Given the description of an element on the screen output the (x, y) to click on. 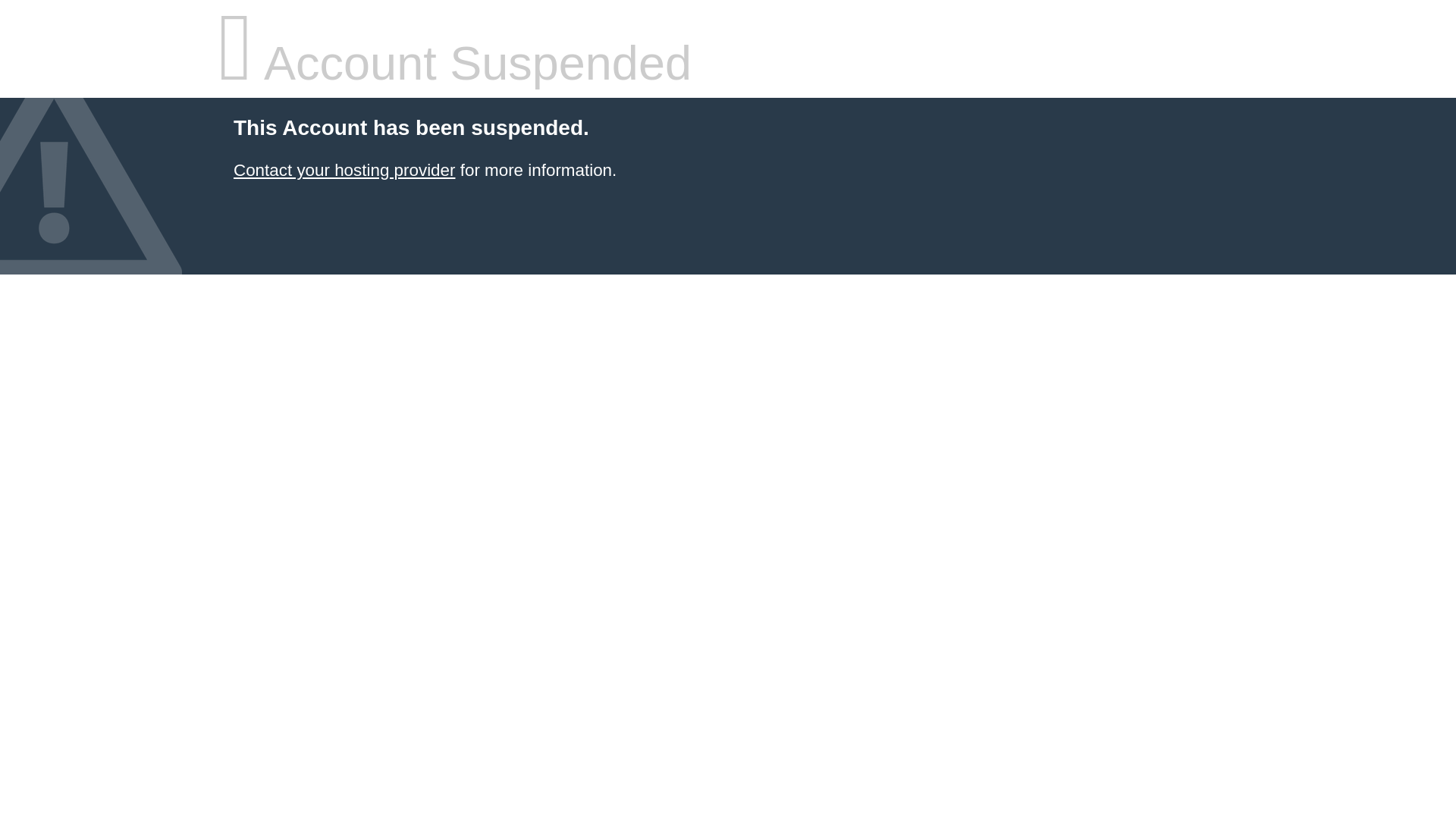
Contact your hosting provider (343, 169)
